Given the description of an element on the screen output the (x, y) to click on. 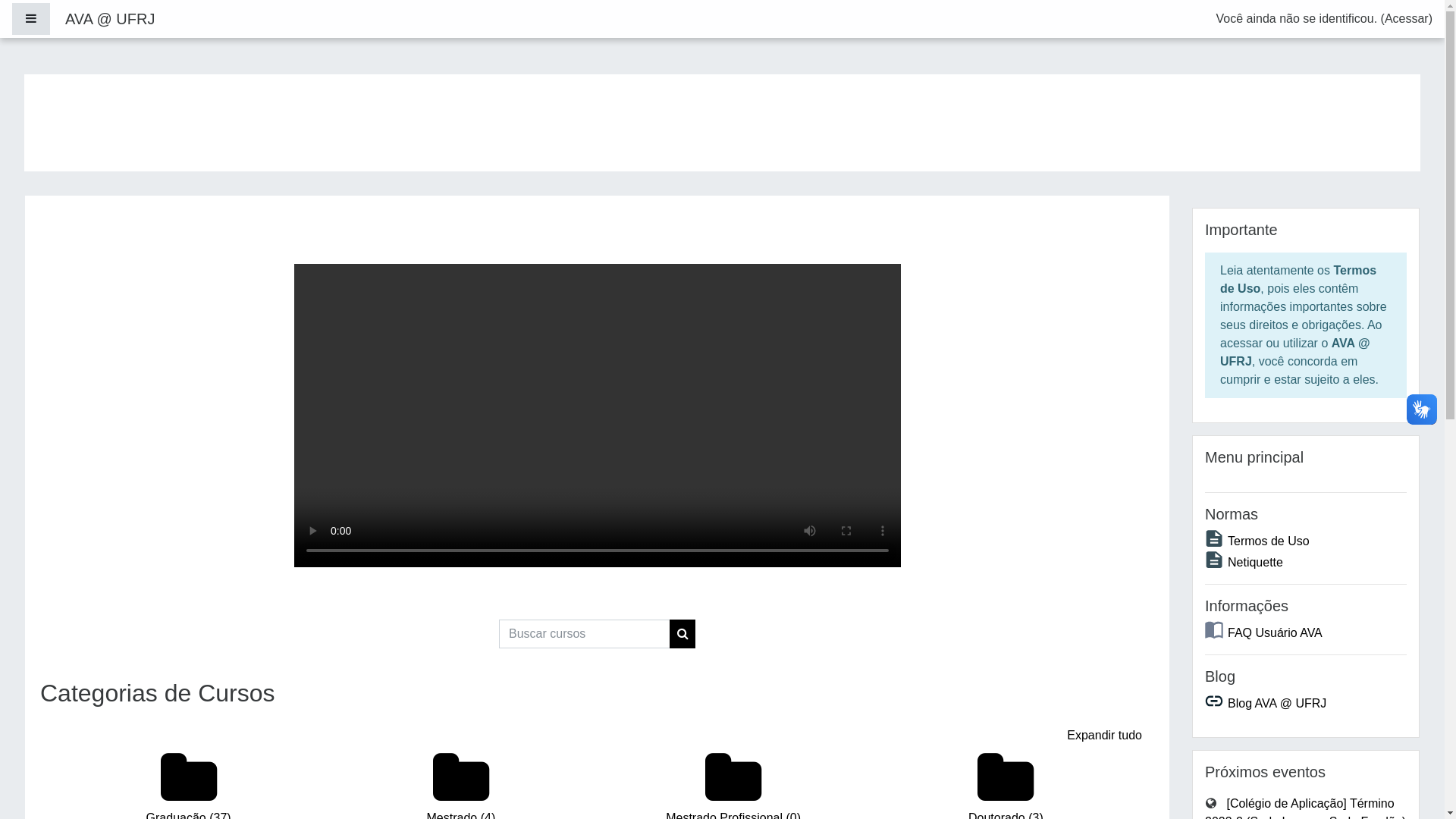
Acessar Element type: text (1406, 18)
watch Element type: hover (597, 415)
Evento do site Element type: hover (1210, 803)
Painel lateral Element type: text (31, 18)
Blog AVA @ UFRJ
URL Element type: text (1265, 702)
Buscar cursos Element type: text (682, 633)
Pular Importante Element type: text (1191, 207)
Expandir tudo Element type: text (1096, 734)
Pular Menu principal Element type: text (1191, 434)
AVA @ UFRJ Element type: text (109, 18)
